Given the description of an element on the screen output the (x, y) to click on. 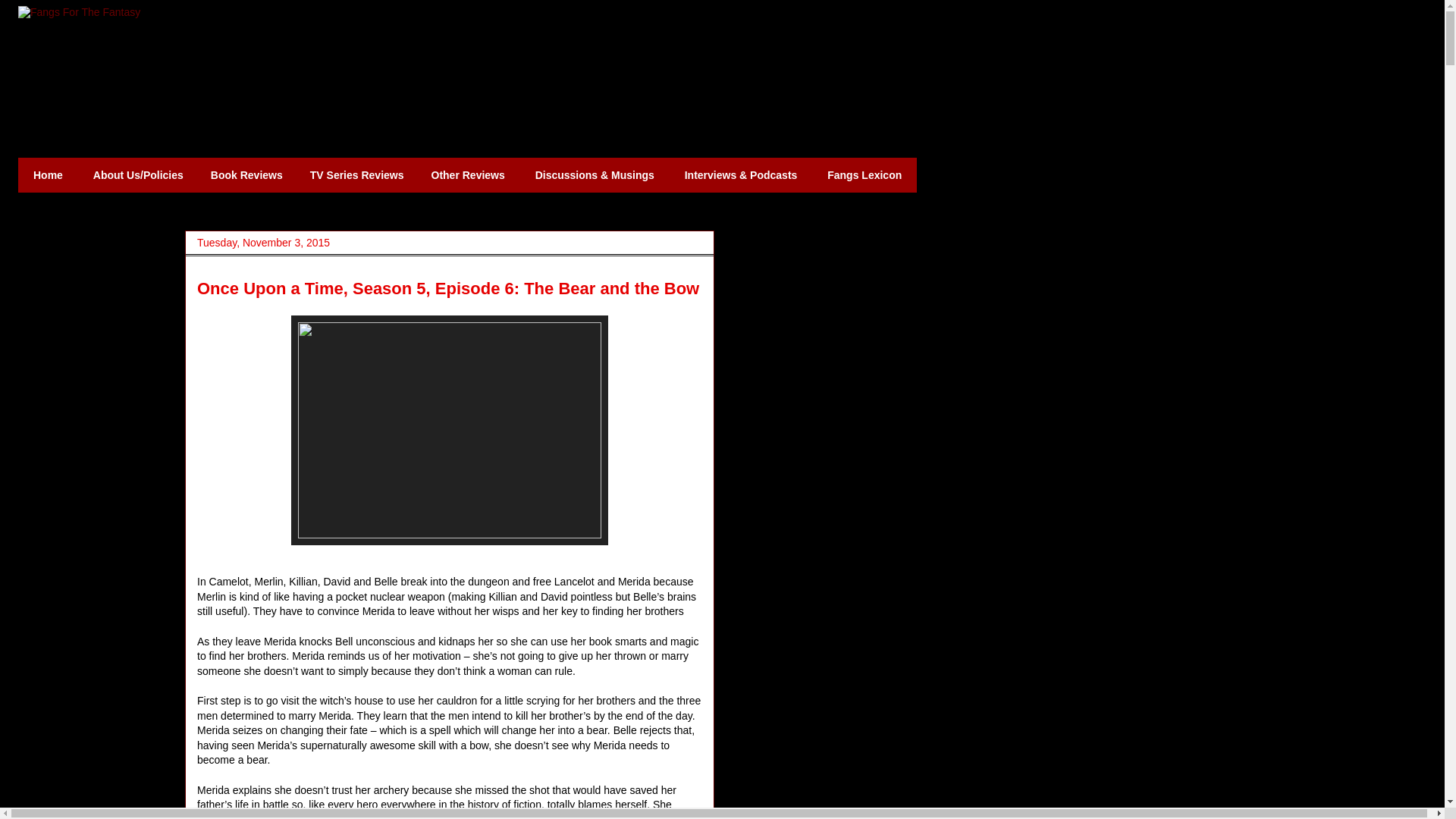
Fangs Lexicon (864, 174)
Home (47, 174)
